Given the description of an element on the screen output the (x, y) to click on. 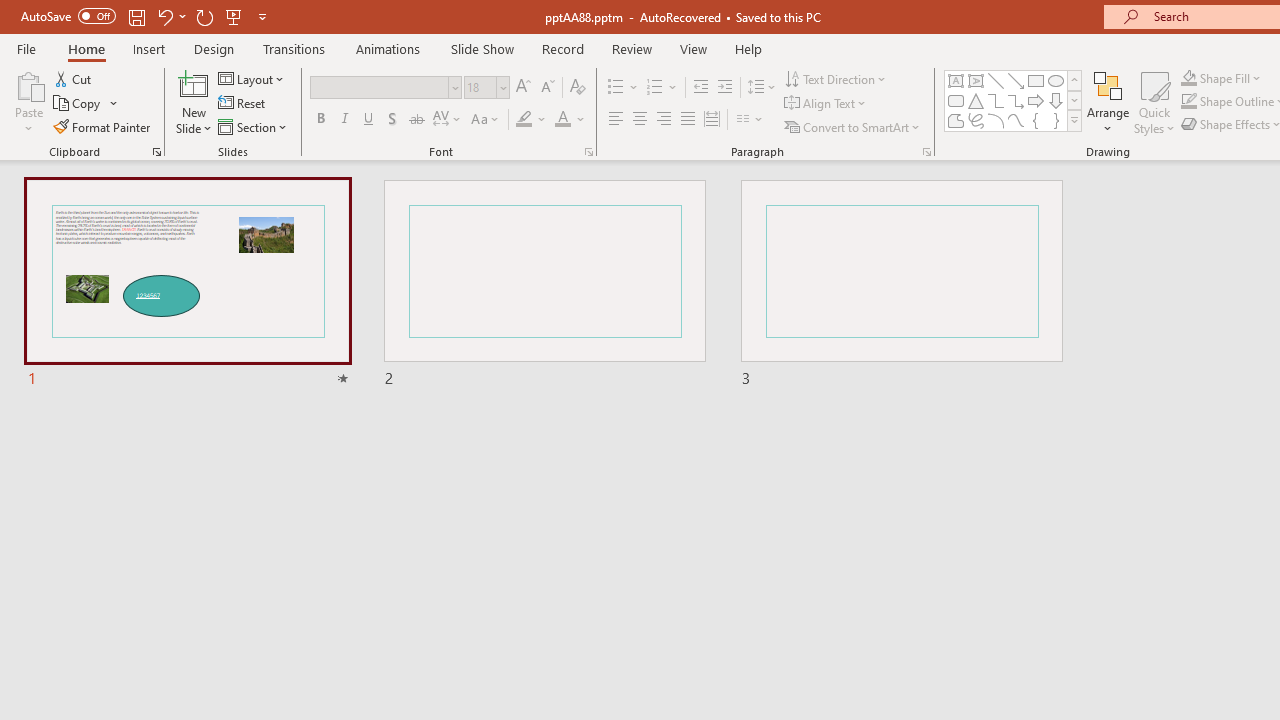
Decrease Indent (700, 87)
Animations (388, 48)
Section (254, 126)
Clear Formatting (577, 87)
Row up (1074, 79)
Line (995, 80)
Text Highlight Color Yellow (524, 119)
Change Case (486, 119)
AutoSave (68, 16)
Paragraph... (926, 151)
Isosceles Triangle (975, 100)
Rectangle: Rounded Corners (955, 100)
Shape Fill Aqua, Accent 2 (1188, 78)
Format Painter (103, 126)
Vertical Text Box (975, 80)
